Given the description of an element on the screen output the (x, y) to click on. 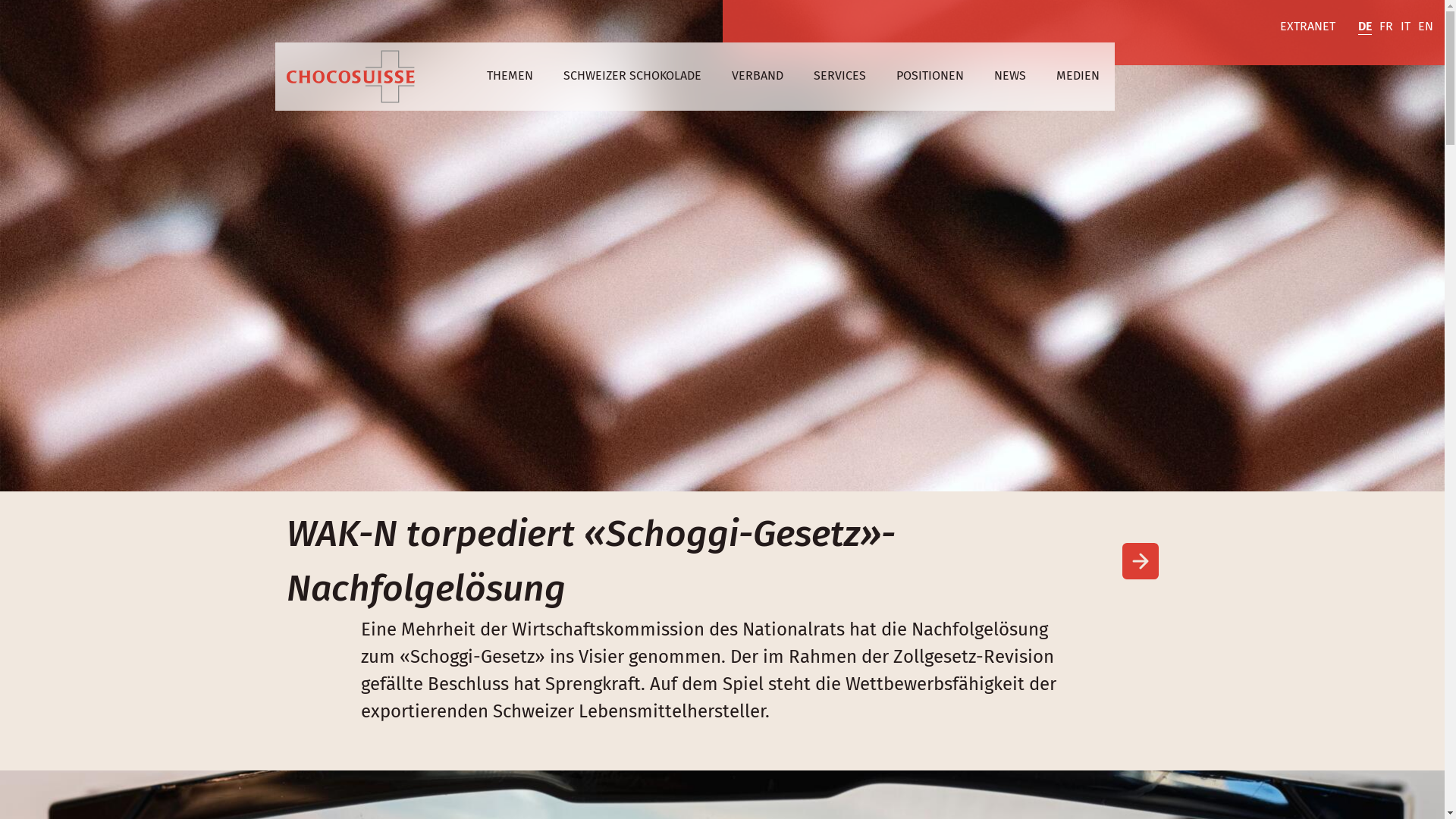
MEDIEN Element type: text (1076, 76)
VERBAND Element type: text (756, 76)
EXTRANET Element type: text (1307, 26)
EN Element type: text (1425, 26)
SERVICES Element type: text (838, 76)
DE Element type: text (1364, 26)
THEMEN Element type: text (509, 76)
POSITIONEN Element type: text (929, 76)
IT Element type: text (1405, 26)
NEWS Element type: text (1009, 76)
SCHWEIZER SCHOKOLADE Element type: text (631, 76)
Home Element type: hover (350, 76)
FR Element type: text (1386, 26)
